Given the description of an element on the screen output the (x, y) to click on. 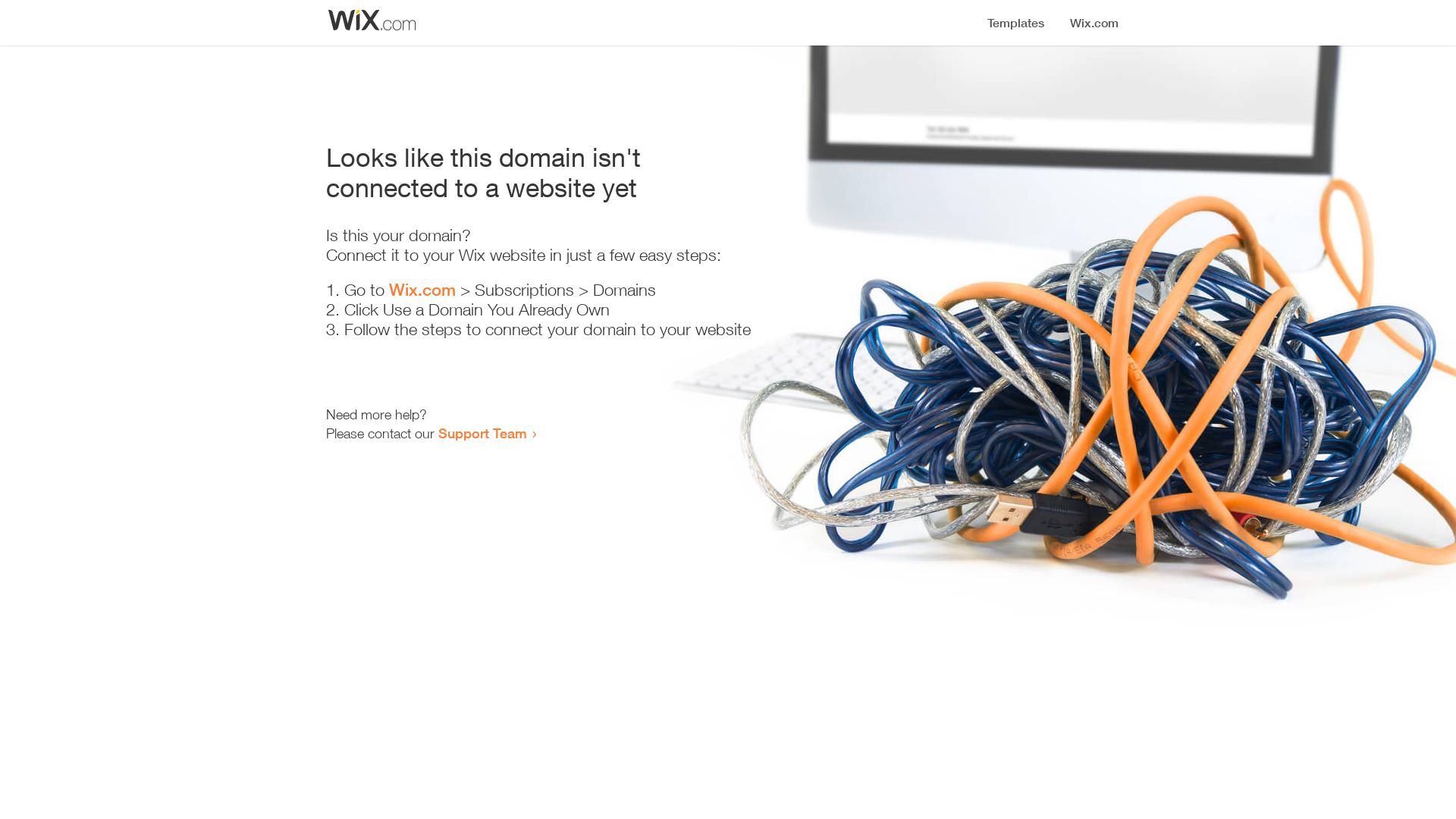
Support Team Element type: text (482, 432)
Wix.com Element type: text (422, 289)
